Given the description of an element on the screen output the (x, y) to click on. 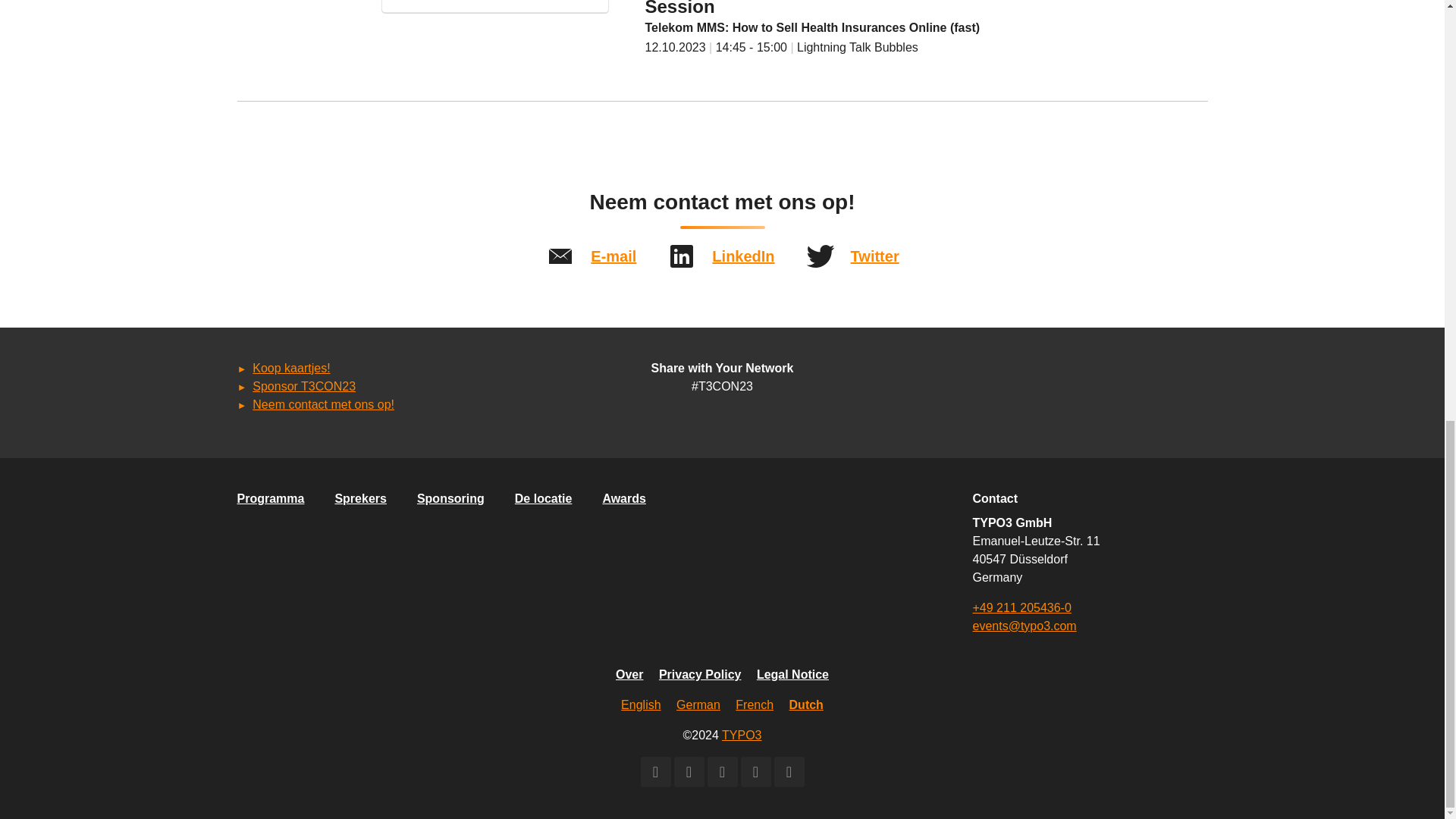
Privacy Policy (700, 674)
Sponsoring (450, 498)
Sponsor T3CON23 (303, 386)
E-mail (613, 256)
Programma (269, 498)
Legal Notice (792, 674)
Sprekers (360, 498)
Neem contact met ons op! (322, 404)
LinkedIn (742, 256)
Sponsoring (450, 498)
